Given the description of an element on the screen output the (x, y) to click on. 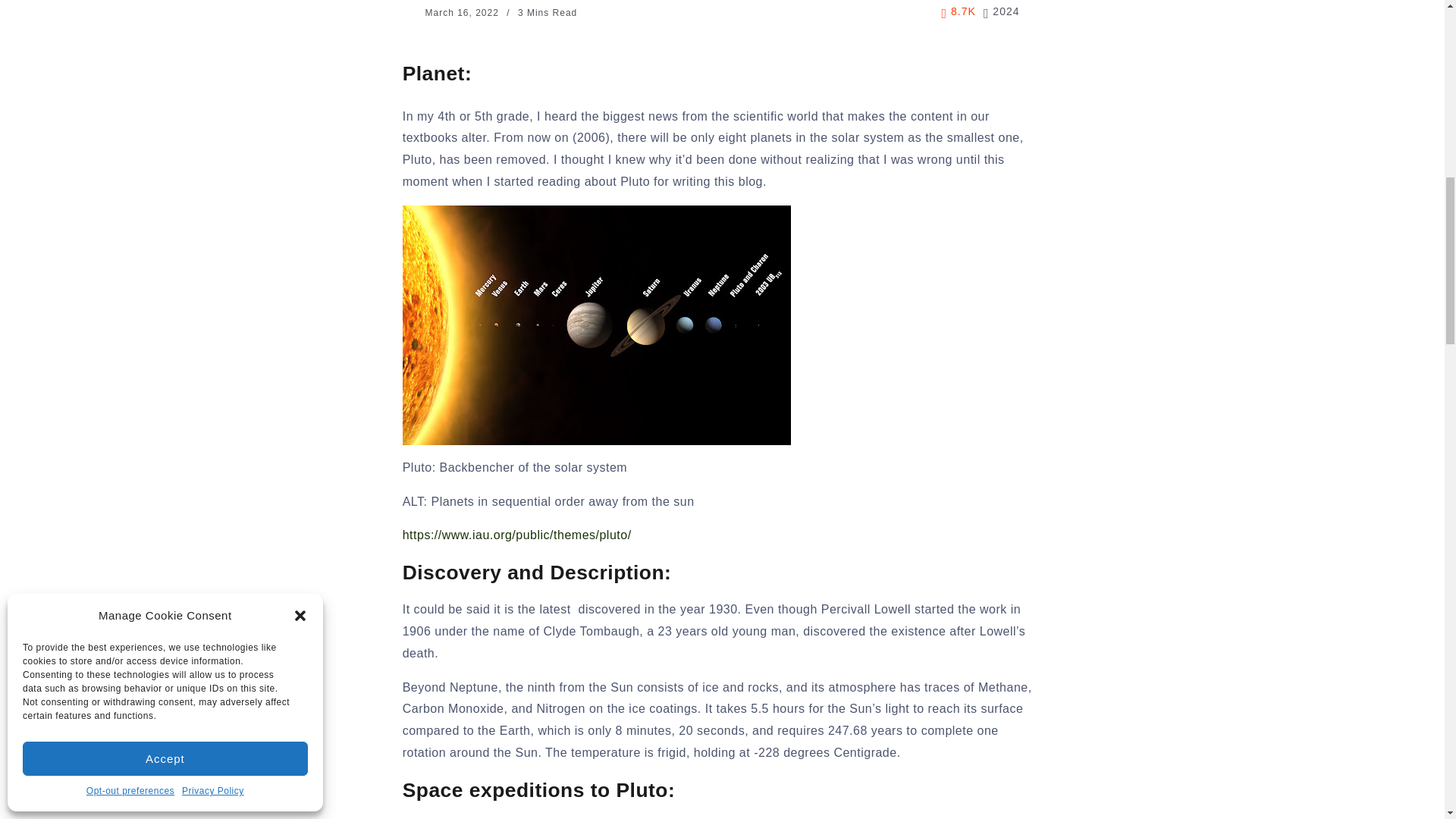
Not a Planet anymore: Pluto - Erakina 1 (596, 325)
Views (958, 11)
comments (1002, 11)
